Given the description of an element on the screen output the (x, y) to click on. 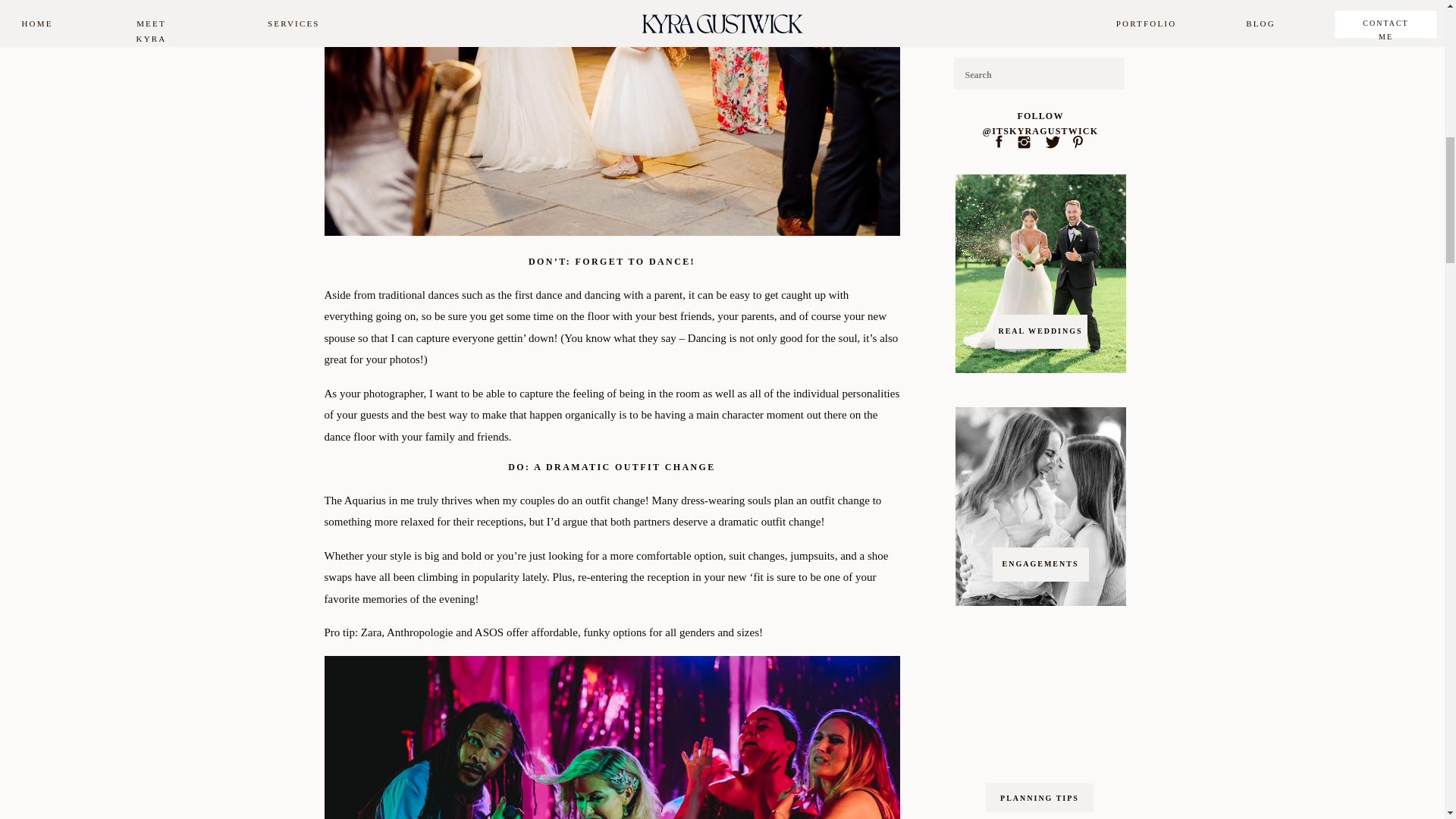
ENGAGEMENTS (1039, 568)
REAL WEDDINGS (1039, 335)
PLANNING TIPS (1038, 797)
PLANNING TIPS (1045, 19)
